Given the description of an element on the screen output the (x, y) to click on. 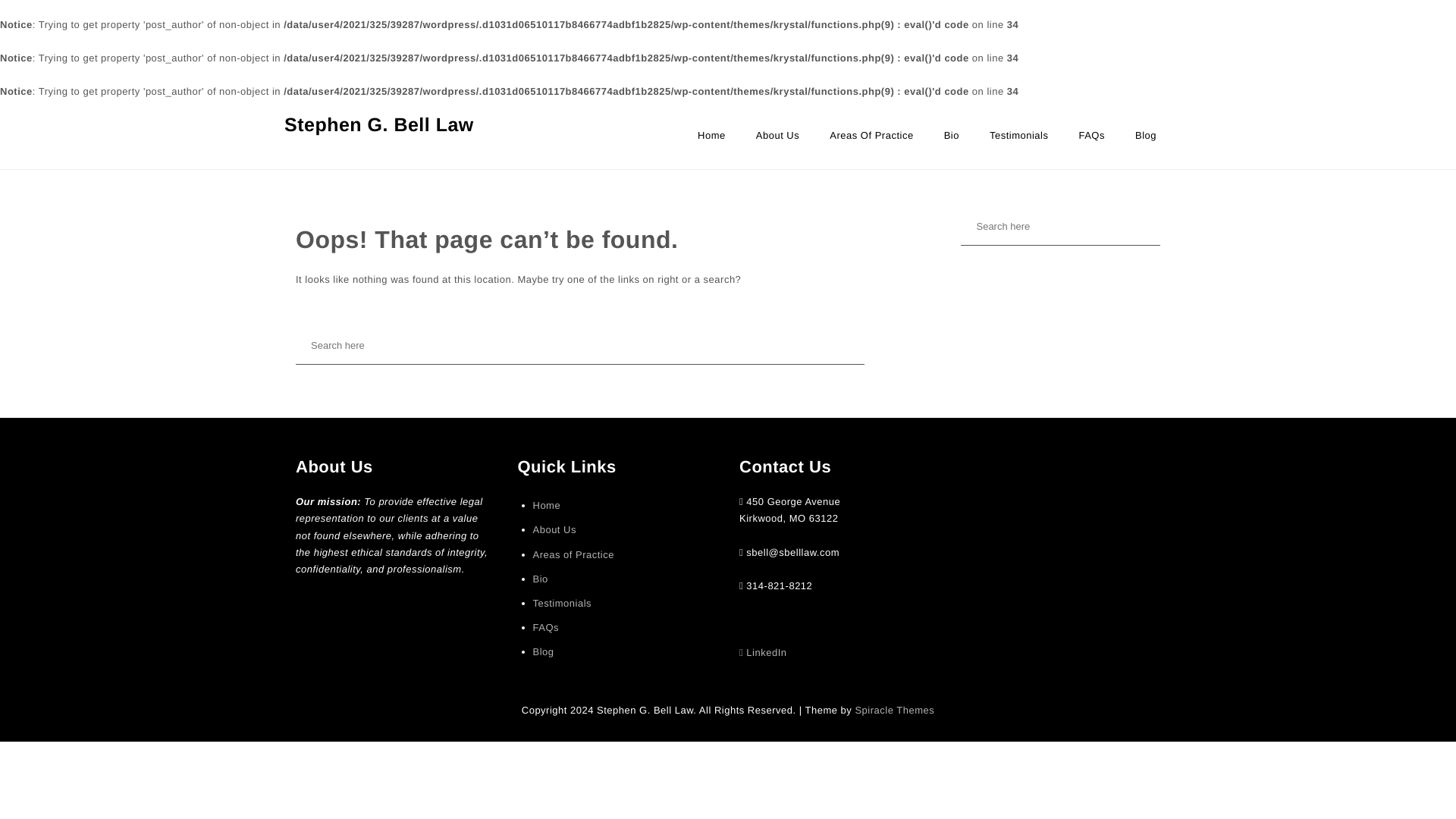
About Us (777, 142)
About Us (777, 142)
LinkedIn (763, 652)
About Us (553, 529)
Testimonials (1019, 142)
Areas of Practice (870, 142)
FAQs (545, 627)
Search (46, 20)
Testimonials (561, 603)
Home (546, 505)
Stephen G. Bell Law (378, 125)
Home (711, 142)
Spiracle Themes (894, 710)
Areas of Practice (573, 555)
Bio (539, 579)
